Given the description of an element on the screen output the (x, y) to click on. 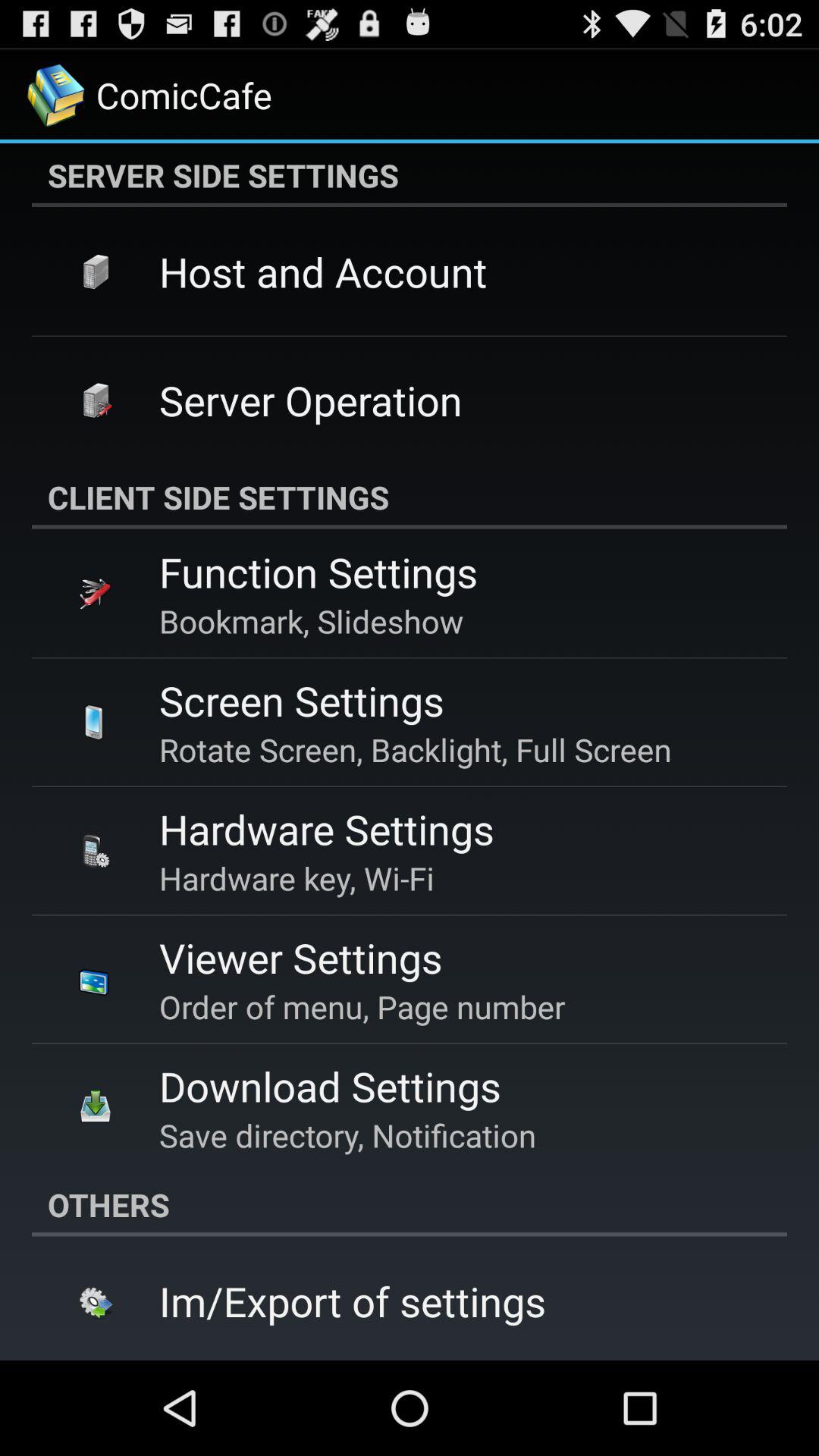
choose app above rotate screen backlight app (301, 700)
